Given the description of an element on the screen output the (x, y) to click on. 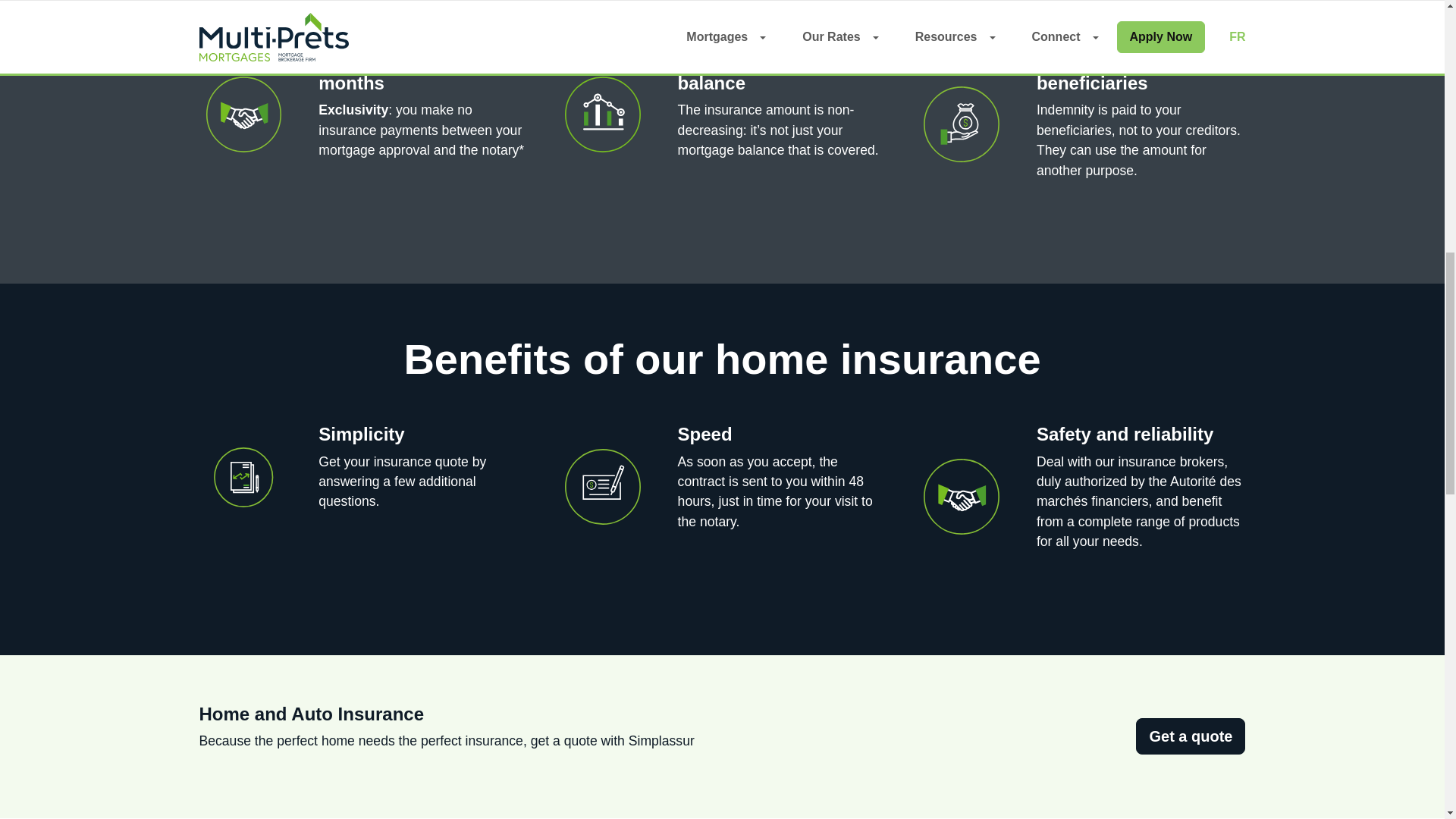
Get a quote (1189, 736)
Get a quote (1189, 736)
